Given the description of an element on the screen output the (x, y) to click on. 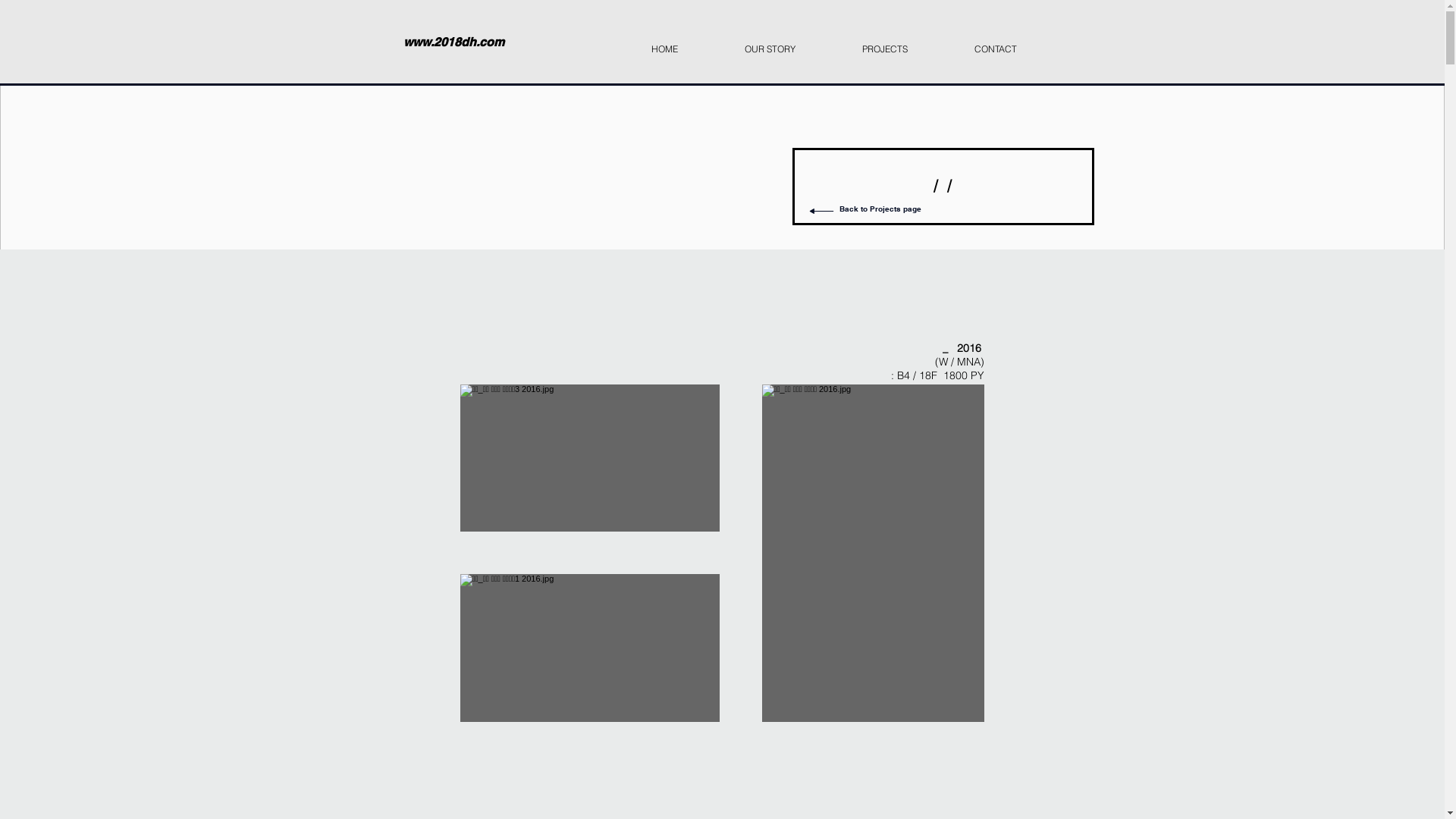
PROJECTS Element type: text (906, 42)
CONTACT Element type: text (1017, 42)
HOME Element type: text (686, 42)
www.2018dh.com Element type: text (453, 42)
Back to Projects page Element type: text (879, 209)
OUR STORY Element type: text (792, 42)
